Given the description of an element on the screen output the (x, y) to click on. 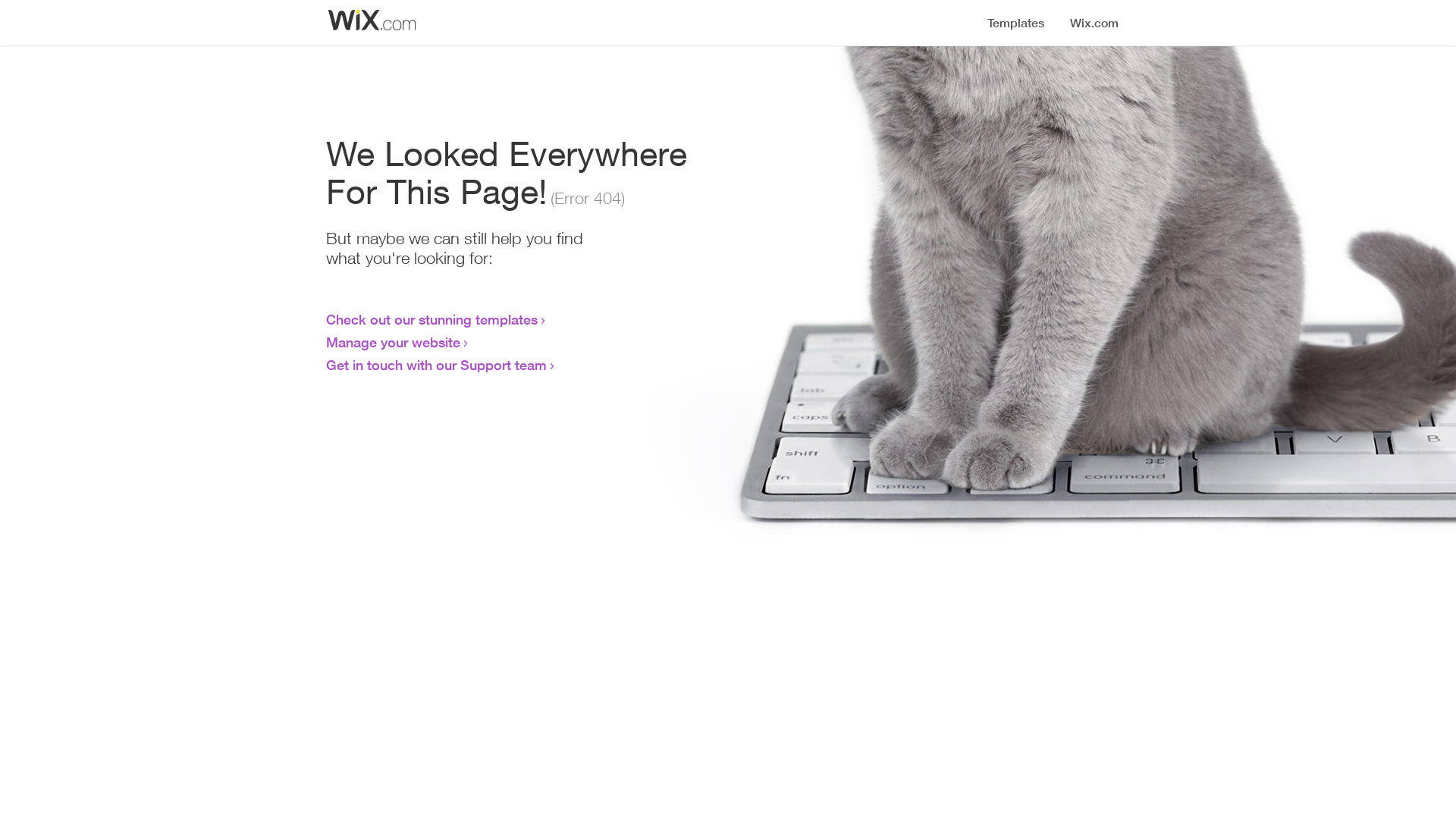
Check out our stunning templates Element type: text (431, 318)
Get in touch with our Support team Element type: text (436, 364)
Manage your website Element type: text (393, 341)
